Given the description of an element on the screen output the (x, y) to click on. 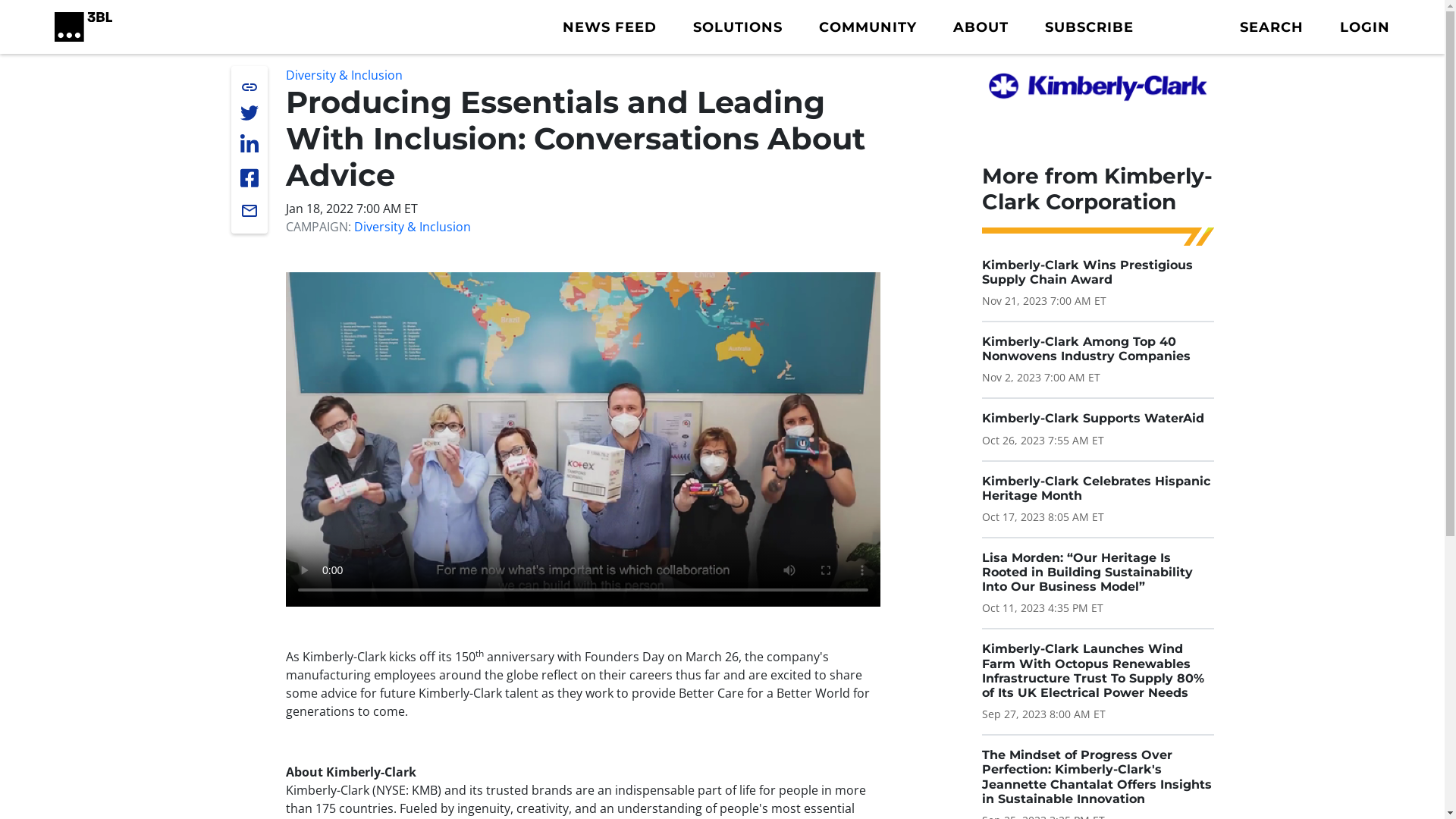
Kimberly-Clark Wins Prestigious Supply Chain Award Element type: text (1086, 271)
Diversity & Inclusion Element type: text (411, 226)
COMMUNITY Element type: text (867, 26)
link to 3 B L Media's Facebook Element type: hover (248, 178)
Kimberly-Clark Among Top 40 Nonwovens Industry Companies Element type: text (1085, 348)
SUBSCRIBE Element type: text (1088, 26)
link to 3 B L Media's Linkedin Element type: hover (248, 144)
email Element type: text (248, 210)
LOGIN Element type: text (1364, 26)
link to 3 B L Media's Twitter Element type: hover (248, 112)
SEARCH Element type: text (1271, 26)
NEWS FEED Element type: text (609, 26)
ABOUT Element type: text (980, 26)
Kimberly-Clark Supports WaterAid Element type: text (1092, 418)
link Element type: text (248, 87)
SOLUTIONS Element type: text (737, 26)
Kimberly-Clark Celebrates Hispanic Heritage Month Element type: text (1095, 487)
Diversity & Inclusion Element type: text (343, 74)
